Given the description of an element on the screen output the (x, y) to click on. 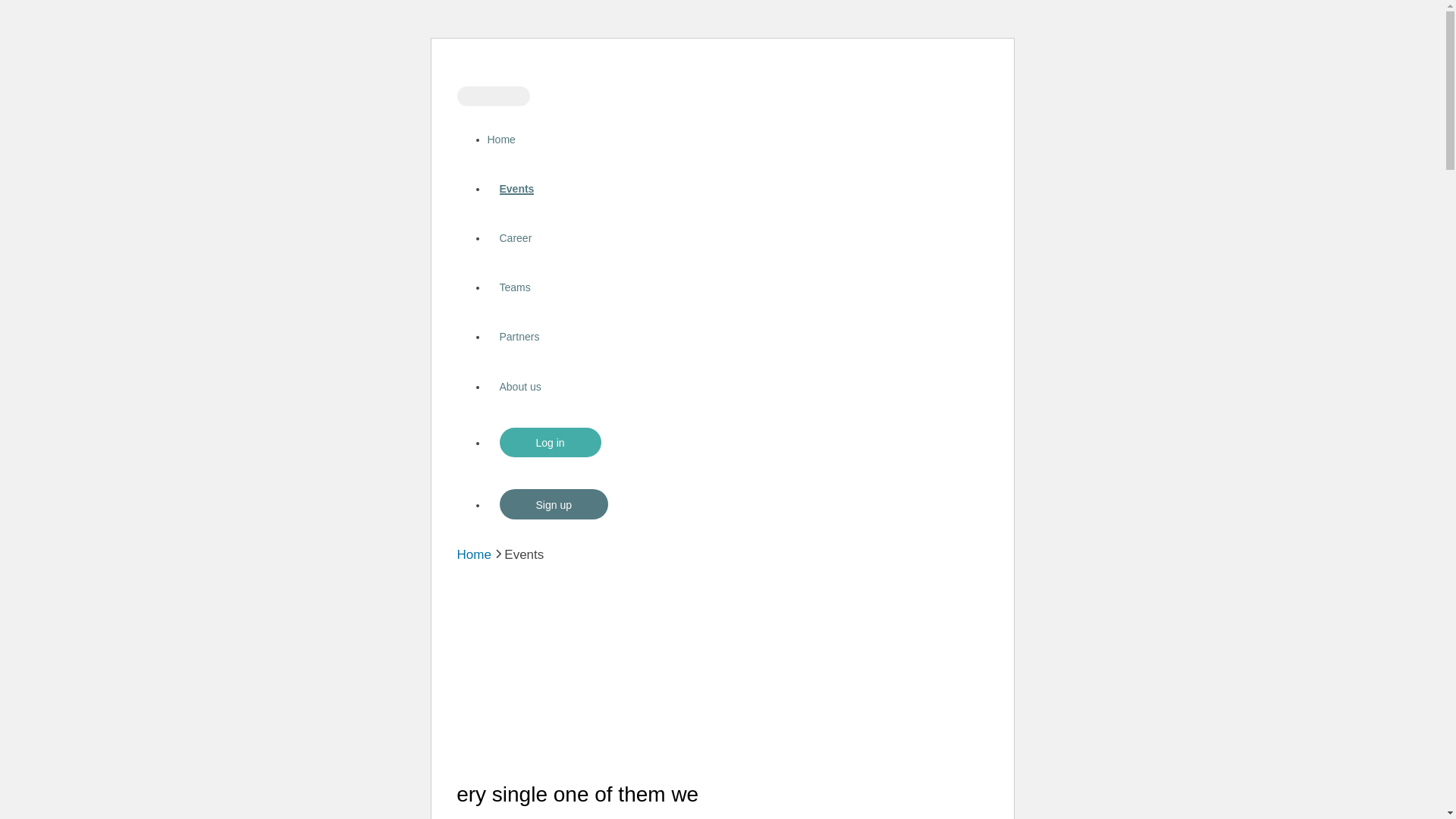
Events Element type: text (515, 188)
Career Element type: text (514, 238)
About us Element type: text (519, 386)
Partners Element type: text (518, 336)
Sign up Element type: text (552, 504)
Capitant Element type: hover (721, 66)
Teams Element type: text (514, 287)
Home Element type: text (500, 139)
Home Element type: text (473, 554)
Log in Element type: text (549, 442)
